Given the description of an element on the screen output the (x, y) to click on. 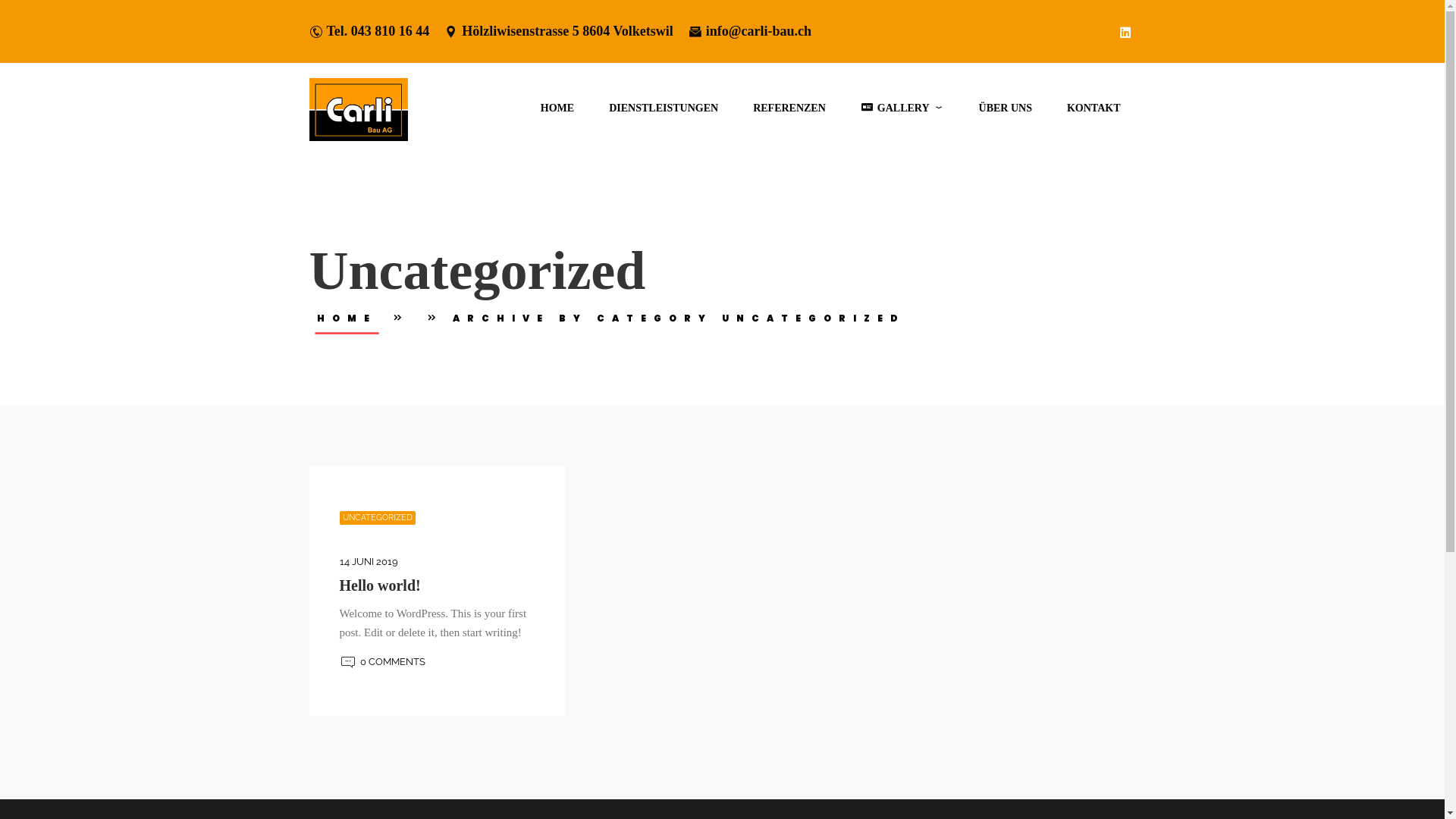
GALLERY Element type: text (902, 107)
KONTAKT Element type: text (1093, 107)
REFERENZEN Element type: text (788, 107)
DIENSTLEISTUNGEN Element type: text (663, 107)
HOME Element type: text (346, 317)
Hello world! Element type: text (379, 585)
HOME Element type: text (557, 107)
